Given the description of an element on the screen output the (x, y) to click on. 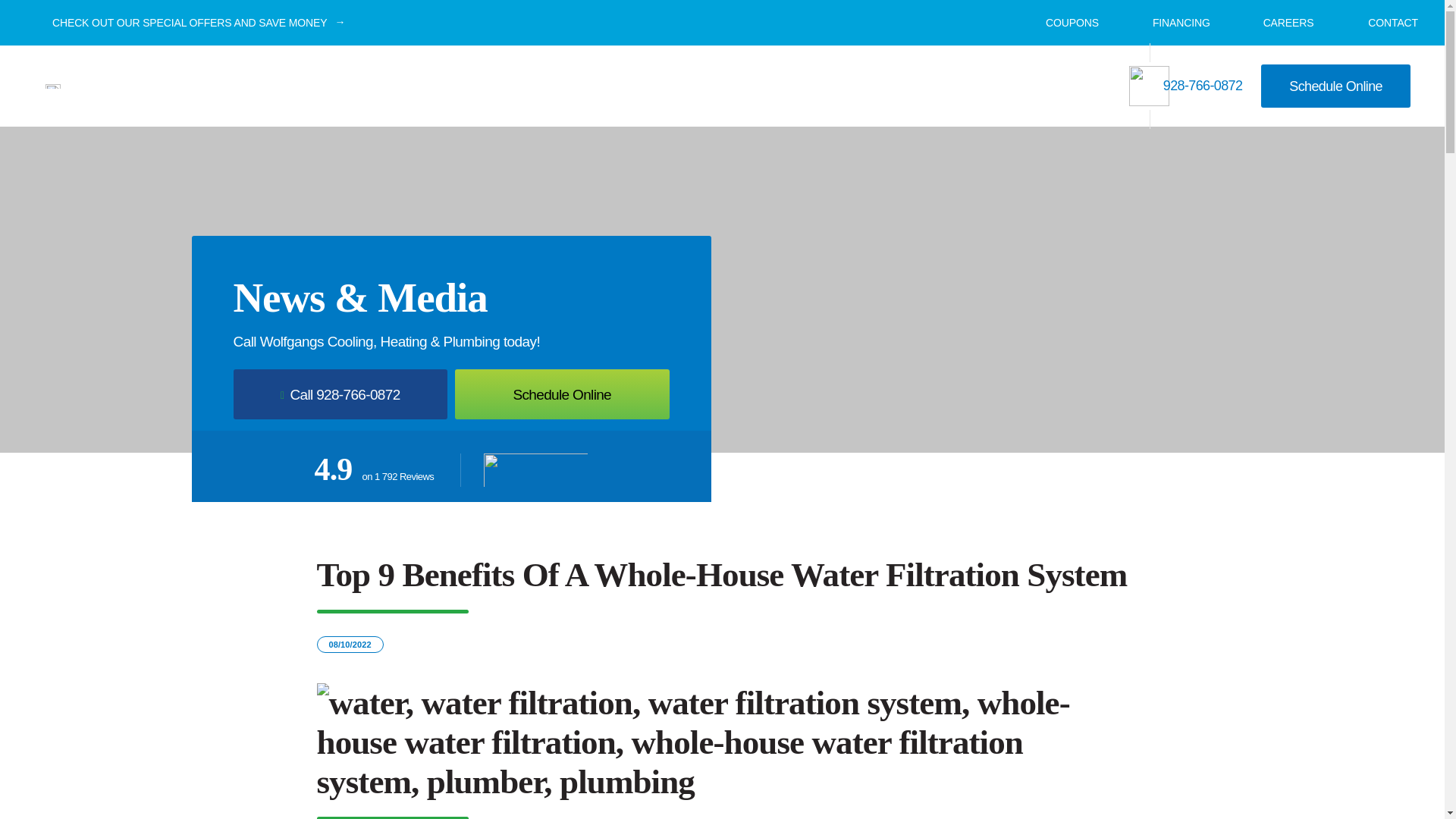
COUPONS (1062, 21)
CAREERS (1279, 22)
928-766-0872 (1186, 86)
Schedule Online (1335, 85)
CHECK OUT OUR SPECIAL OFFERS AND SAVE MONEY (181, 23)
CONTACT (1383, 22)
Call 928-766-0872 (340, 394)
Schedule Online (561, 394)
FINANCING (1170, 22)
